Given the description of an element on the screen output the (x, y) to click on. 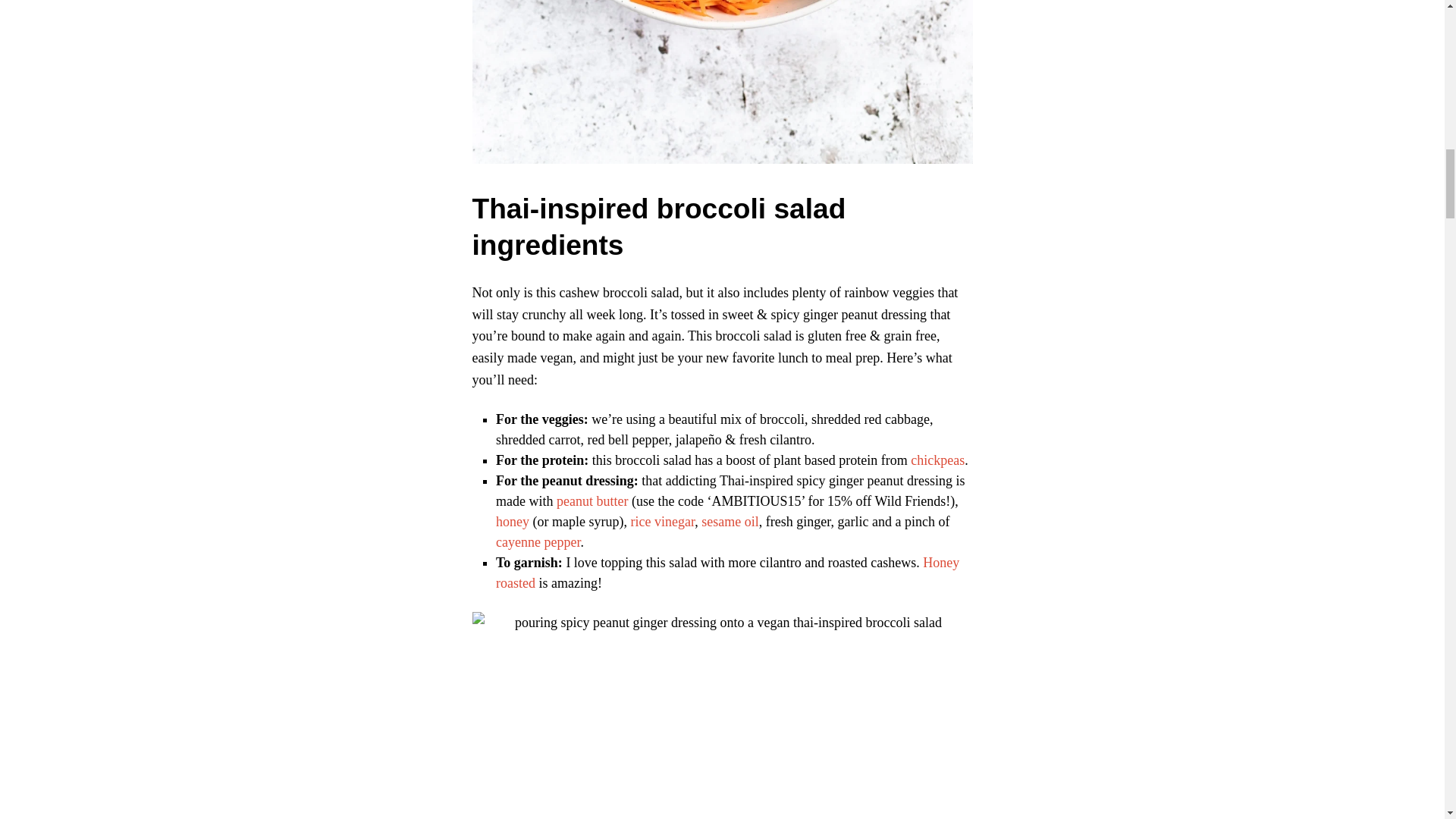
peanut butter (591, 500)
honey (512, 521)
Honey roasted (727, 572)
cayenne pepper (537, 541)
rice vinegar (662, 521)
chickpeas (937, 459)
sesame oil (729, 521)
